Given the description of an element on the screen output the (x, y) to click on. 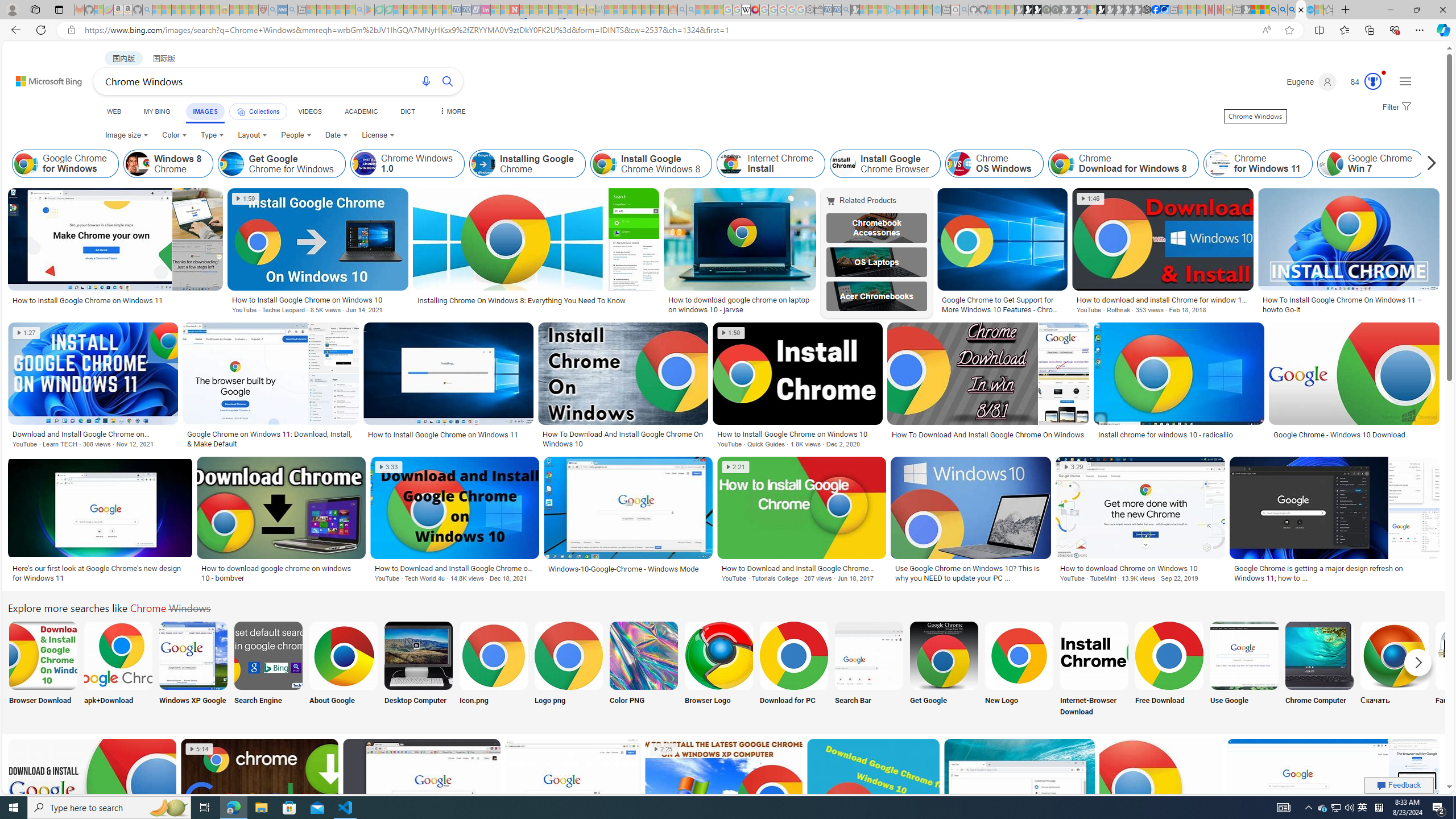
How To Download And Install Google Chrome On Windows 10 (623, 438)
Browser Logo (718, 669)
Date (336, 135)
Trusted Community Engagement and Contributions | Guidelines (524, 9)
Browser Download (42, 669)
Internet-Browser Download (1093, 669)
